Given the description of an element on the screen output the (x, y) to click on. 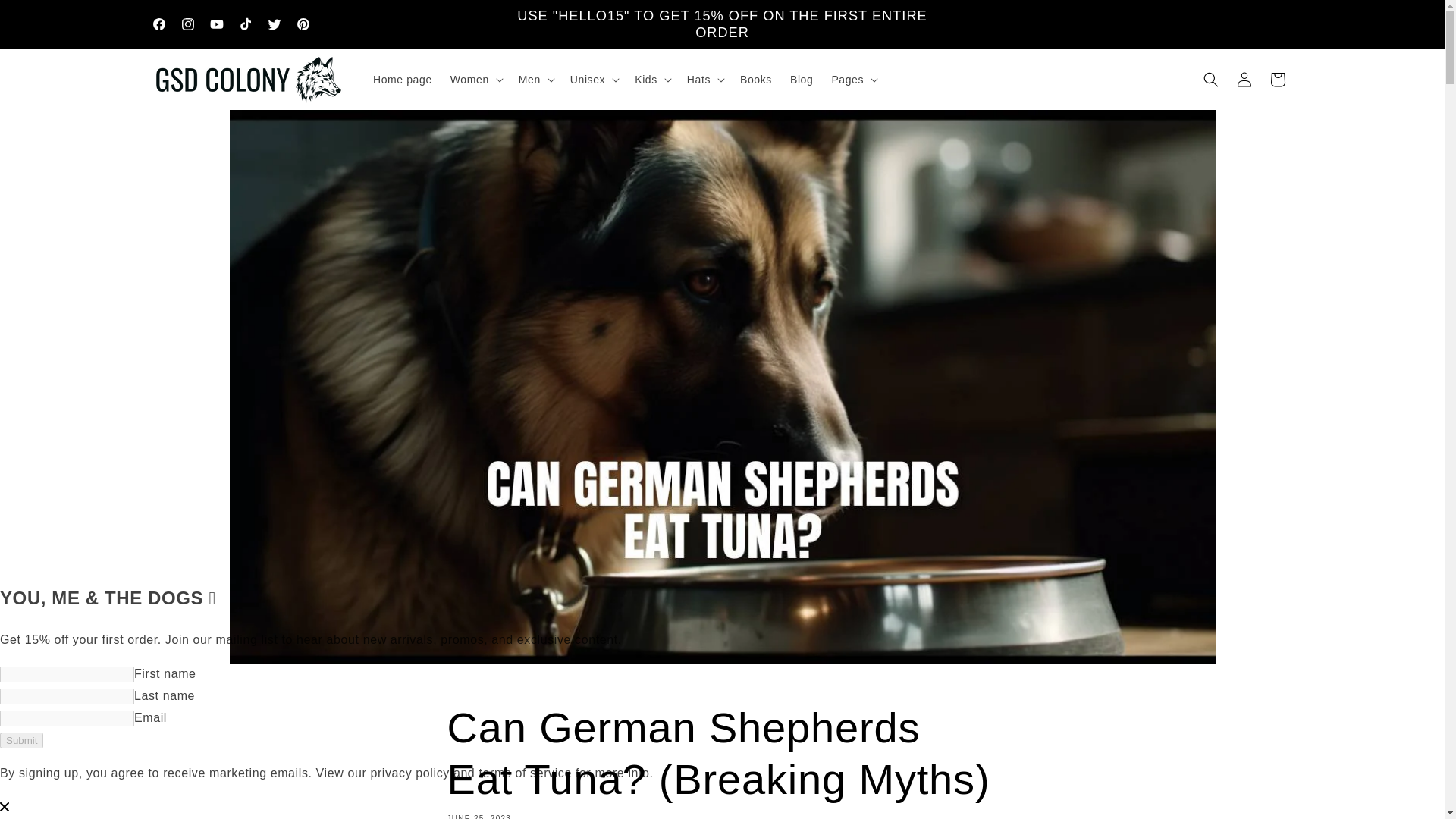
Facebook (158, 23)
YouTube (216, 23)
Skip to content (45, 17)
Twitter (273, 23)
Instagram (187, 23)
Pinterest (302, 23)
TikTok (244, 23)
